Given the description of an element on the screen output the (x, y) to click on. 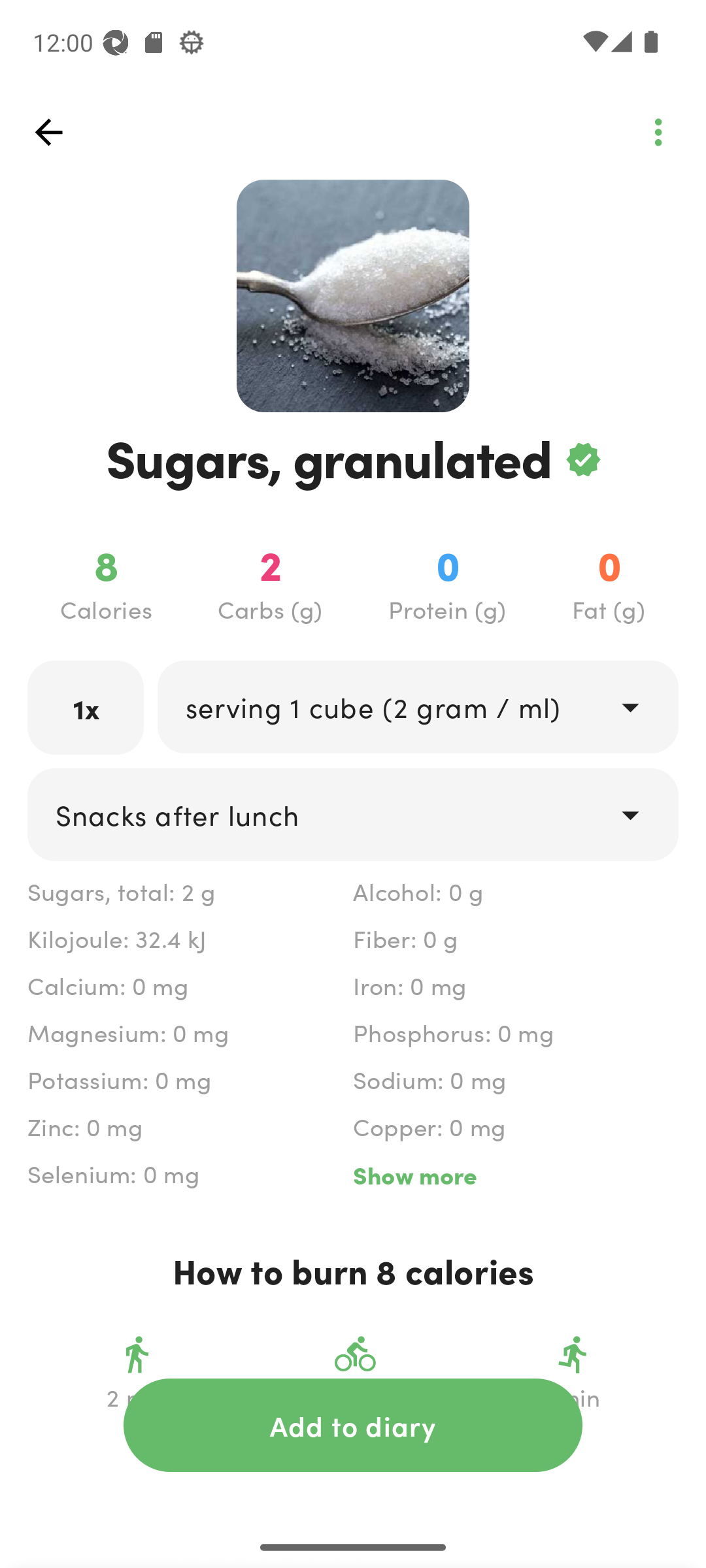
top_left_action (48, 132)
top_left_action (658, 132)
1x labeled_edit_text (85, 707)
drop_down serving 1 cube (2 gram / ml) (417, 706)
drop_down Snacks after lunch (352, 814)
Show more (515, 1174)
action_button Add to diary (352, 1425)
